Given the description of an element on the screen output the (x, y) to click on. 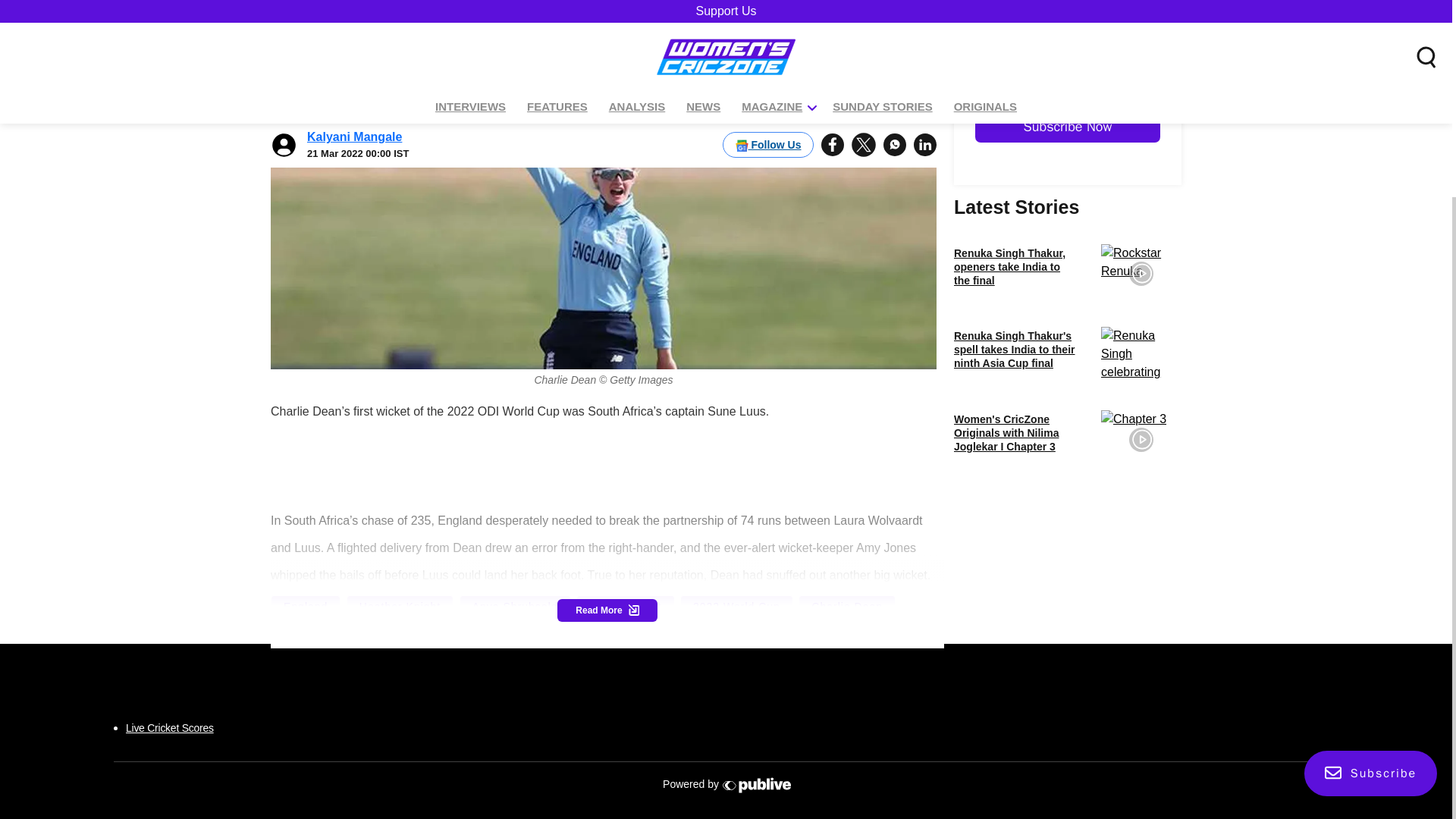
Follow Us (767, 35)
Kalyani Mangale (354, 27)
kate cross (601, 631)
2022 World Cup (736, 606)
ICC Cricket World Cup, 2022 (361, 631)
The Hunderd (508, 631)
Heather Knight (399, 606)
Anya Shrubsole (515, 606)
London Spirit (625, 606)
Read More (606, 609)
England (305, 606)
Charlie Dean (846, 606)
